Given the description of an element on the screen output the (x, y) to click on. 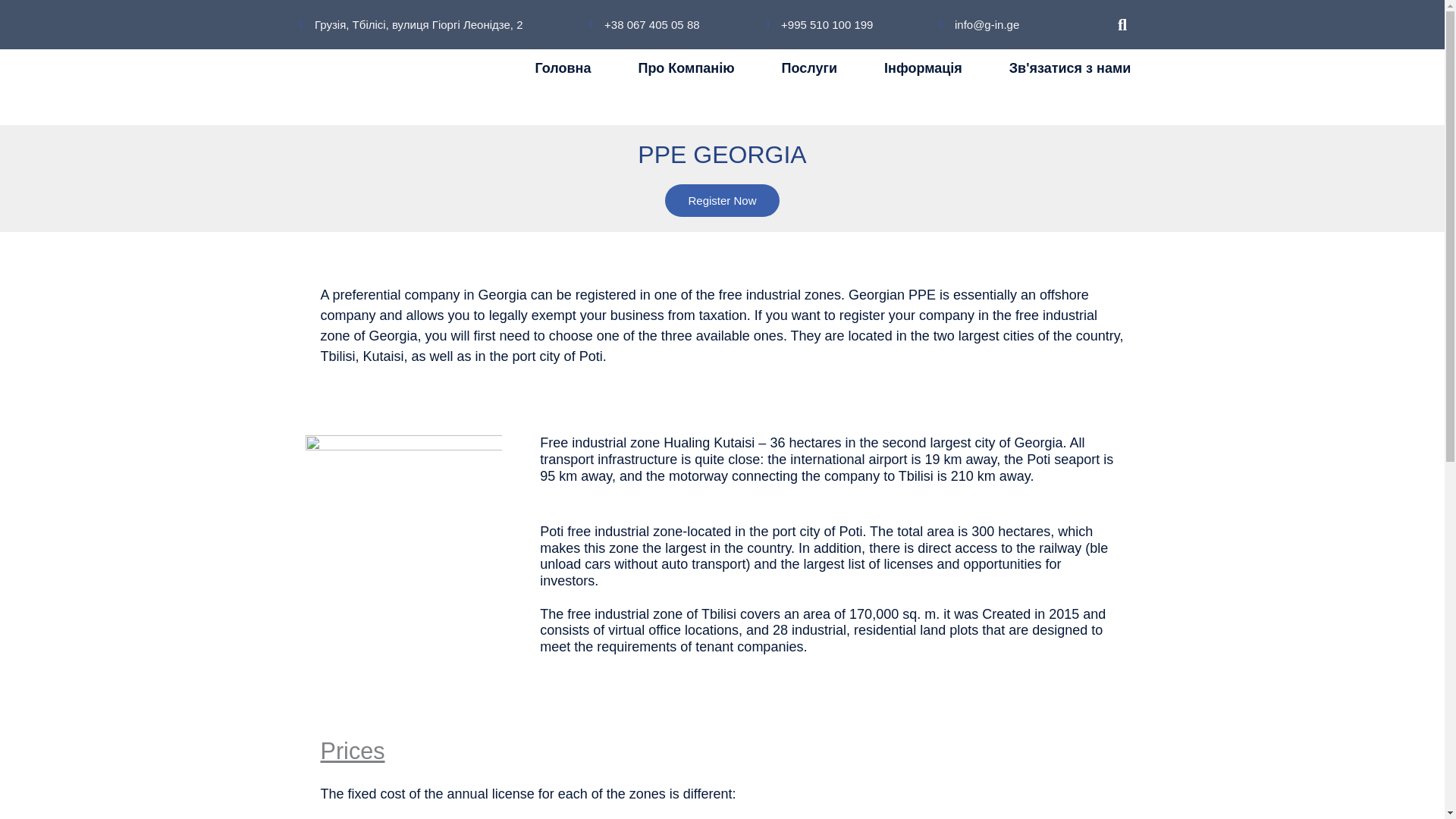
Register Now (721, 200)
Ukrainian (1119, 106)
